Given the description of an element on the screen output the (x, y) to click on. 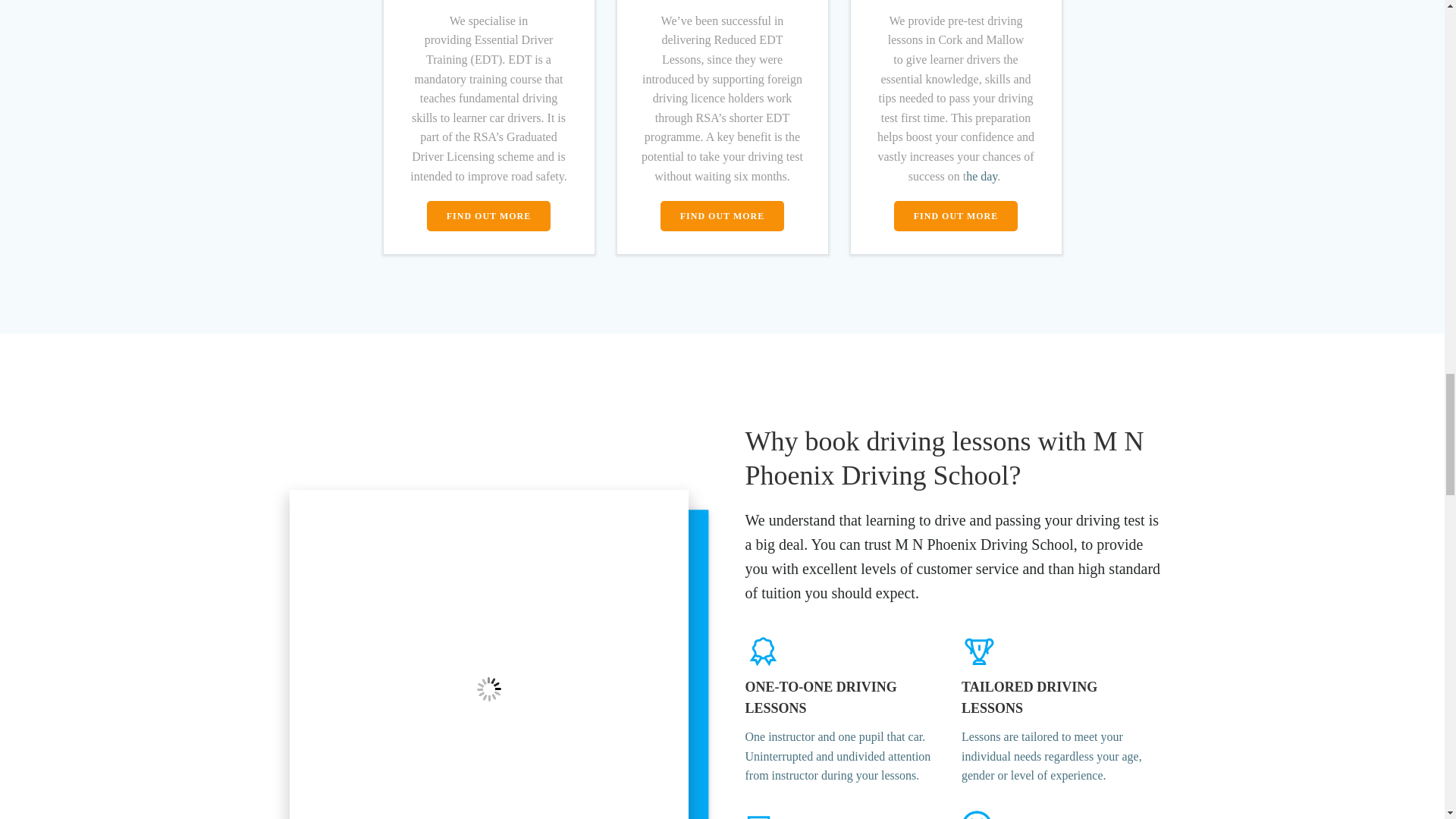
FIND OUT MORE (488, 215)
FIND OUT MORE (955, 215)
FIND OUT MORE (722, 215)
